Given the description of an element on the screen output the (x, y) to click on. 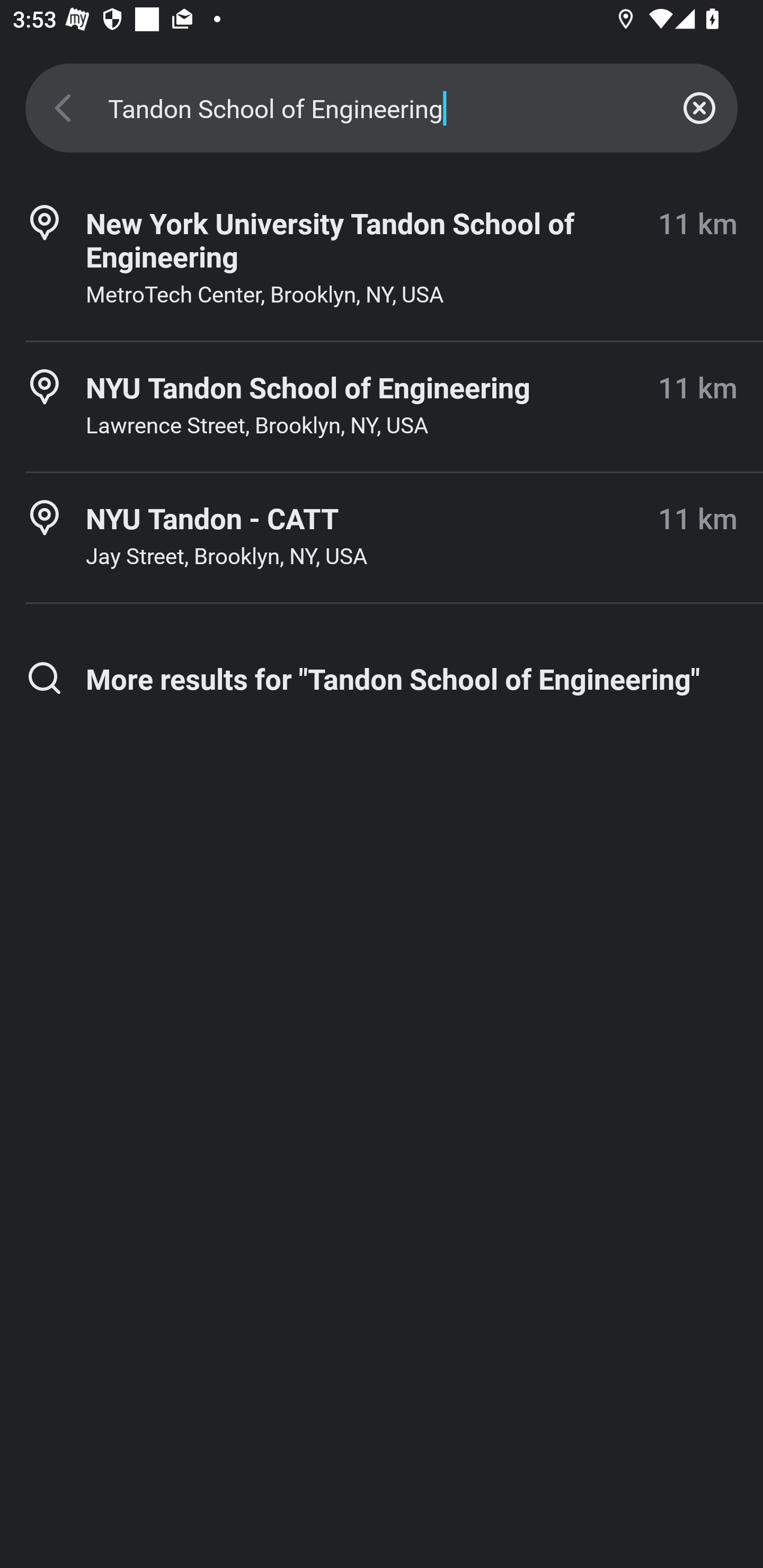
More results for "Tandon School of Engineering" (381, 677)
